Given the description of an element on the screen output the (x, y) to click on. 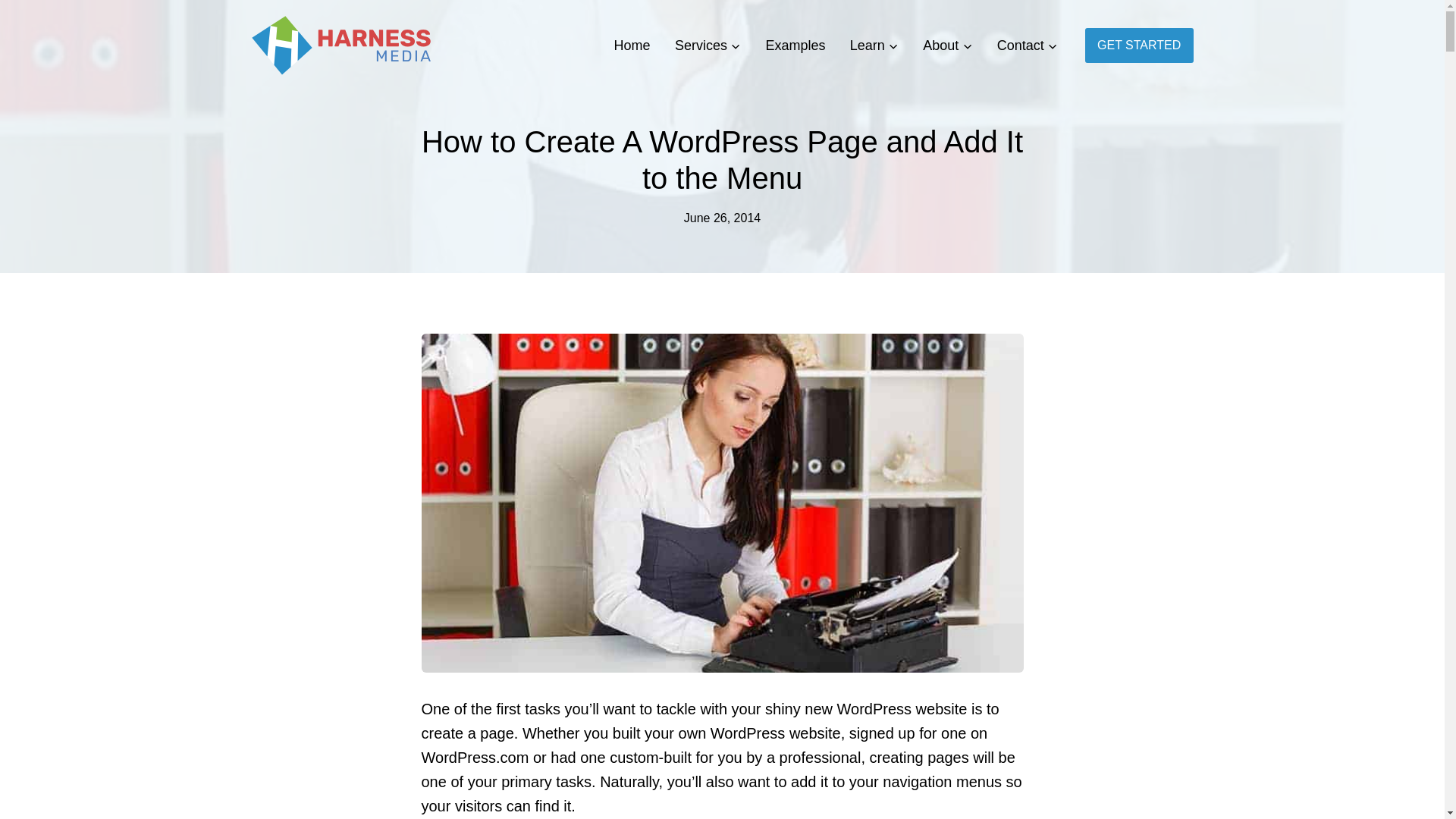
Examples (794, 44)
Home (631, 44)
About (947, 44)
Services (707, 44)
GET STARTED (1138, 44)
Learn (874, 44)
Contact (1026, 44)
